Given the description of an element on the screen output the (x, y) to click on. 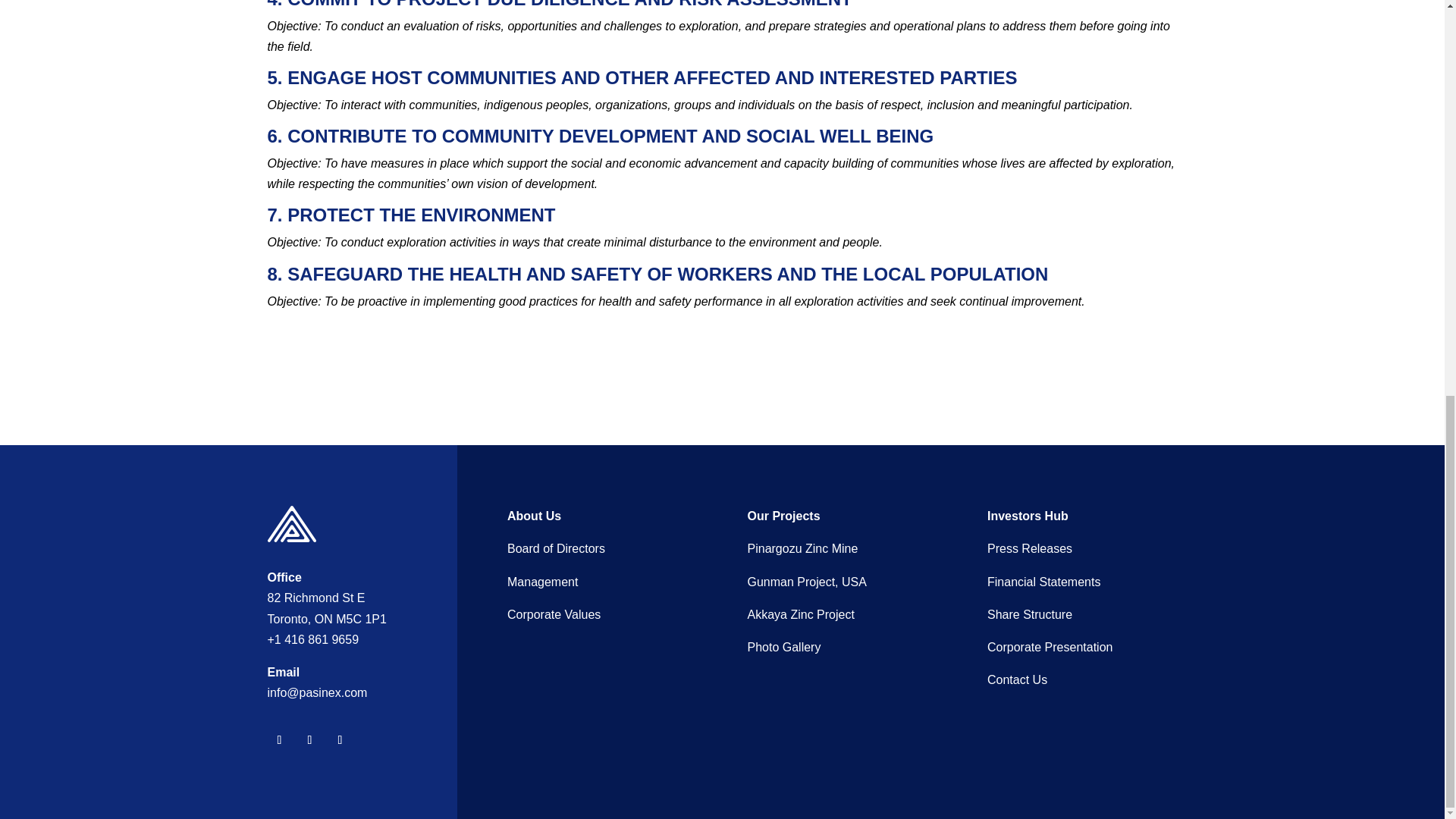
Investors Hub (1027, 515)
Our Projects (784, 515)
Follow on Facebook (278, 740)
Follow on LinkedIn (339, 740)
Share Structure (1029, 614)
Gunman Project, USA (807, 581)
About Us (533, 515)
Financial Statements (1043, 581)
Follow on X (309, 740)
Press Releases (1029, 548)
Management (542, 581)
Pinargozu Zinc Mine (803, 548)
Akkaya Zinc Project (801, 614)
Board of Directors (555, 548)
Corporate Values (552, 614)
